Given the description of an element on the screen output the (x, y) to click on. 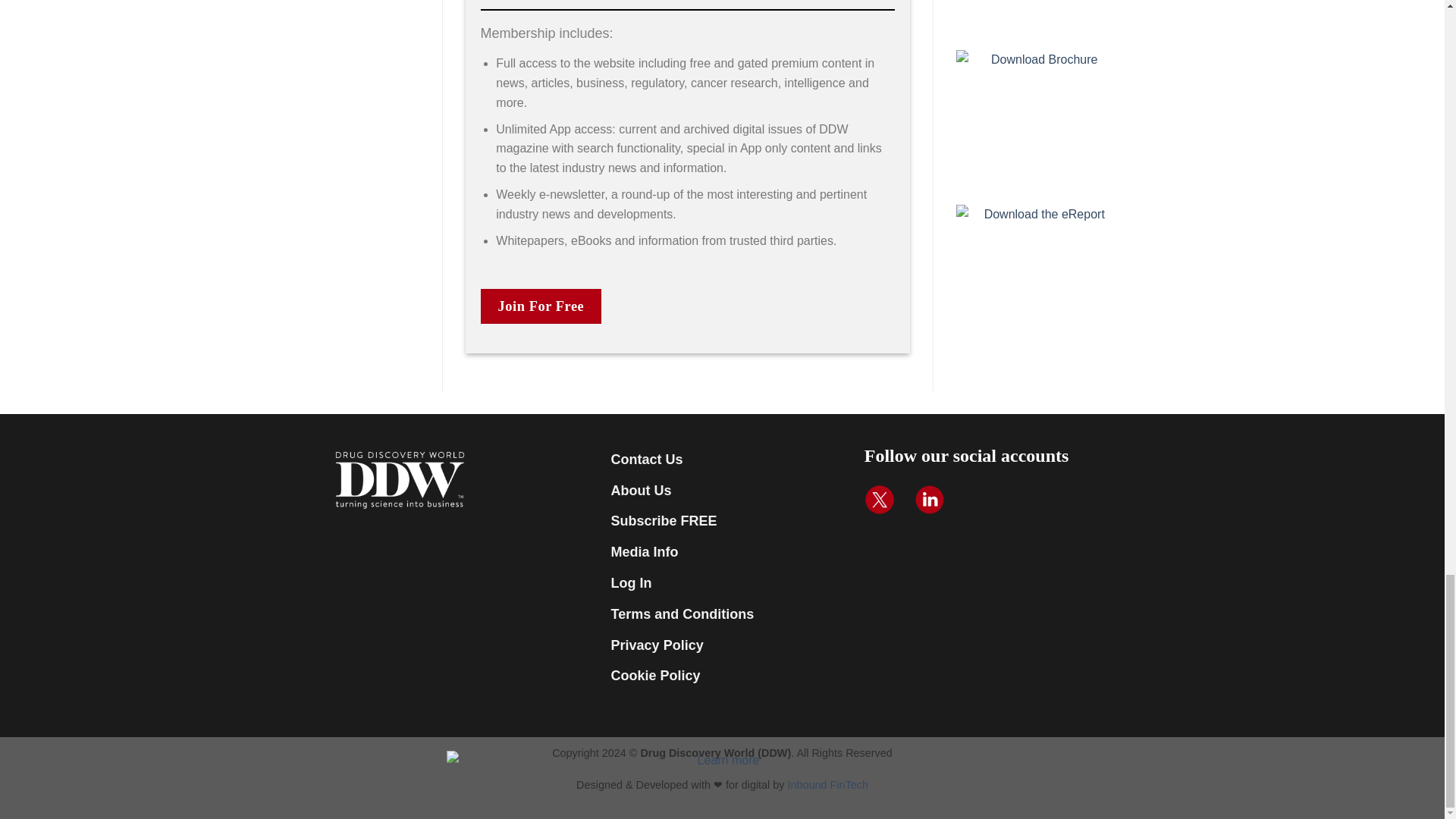
Download Brochure (1038, 117)
Download the eReport (1038, 15)
Download the eReport (1038, 272)
